Given the description of an element on the screen output the (x, y) to click on. 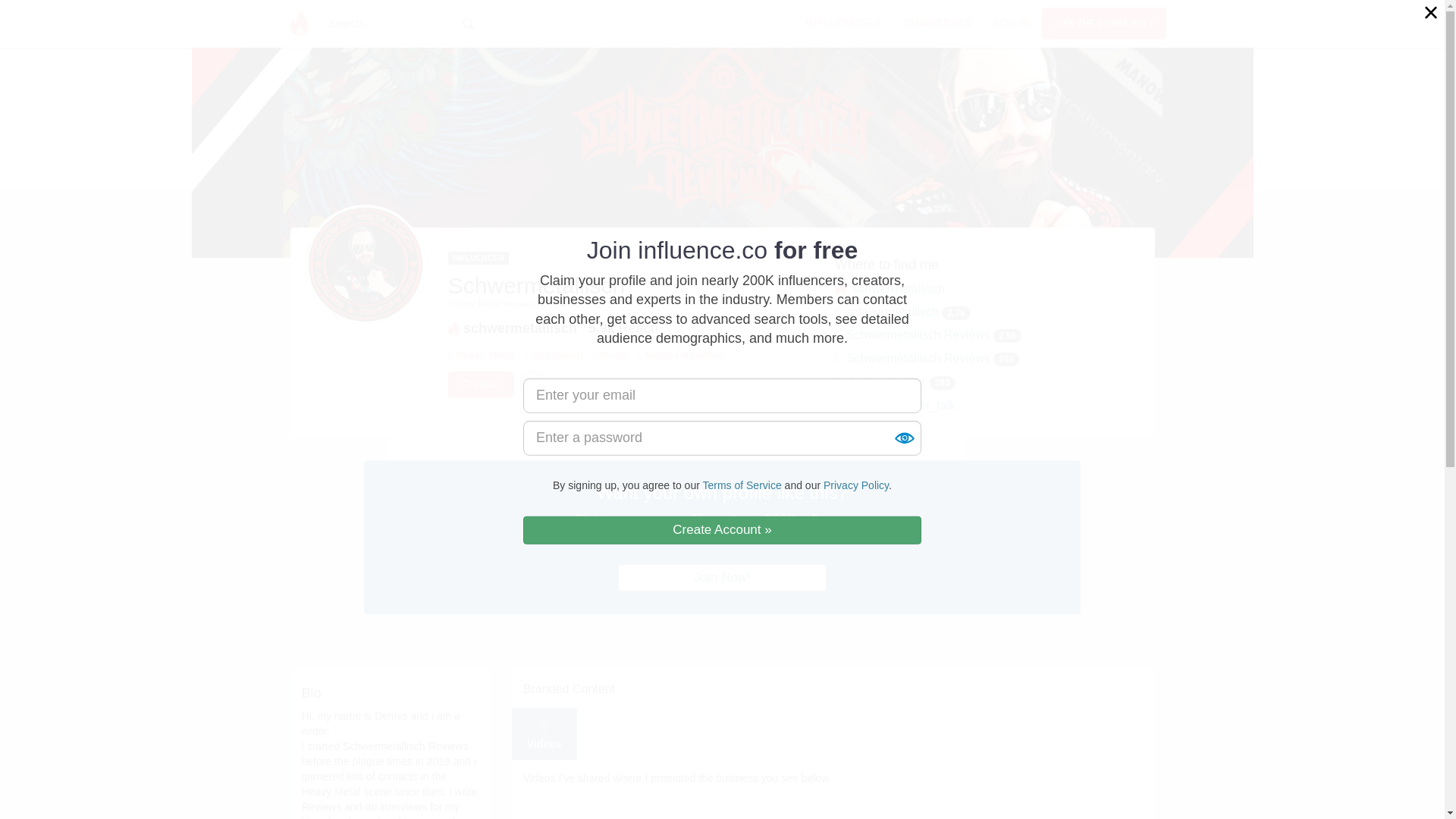
Heavy Metal (483, 354)
Schwermetallisch Reviews (917, 358)
schwermetallisch (892, 311)
Music (613, 354)
Music Promotion (684, 354)
INFLUENCERS (843, 22)
Join Now! (722, 578)
Journalism (557, 354)
Videos (544, 734)
Contact (480, 384)
Schwermetallisch Reviews (917, 334)
schwermetallisch (897, 287)
BUSINESSES (937, 22)
LOG IN (1011, 22)
JOIN THE COMMUNITY (1104, 23)
